Given the description of an element on the screen output the (x, y) to click on. 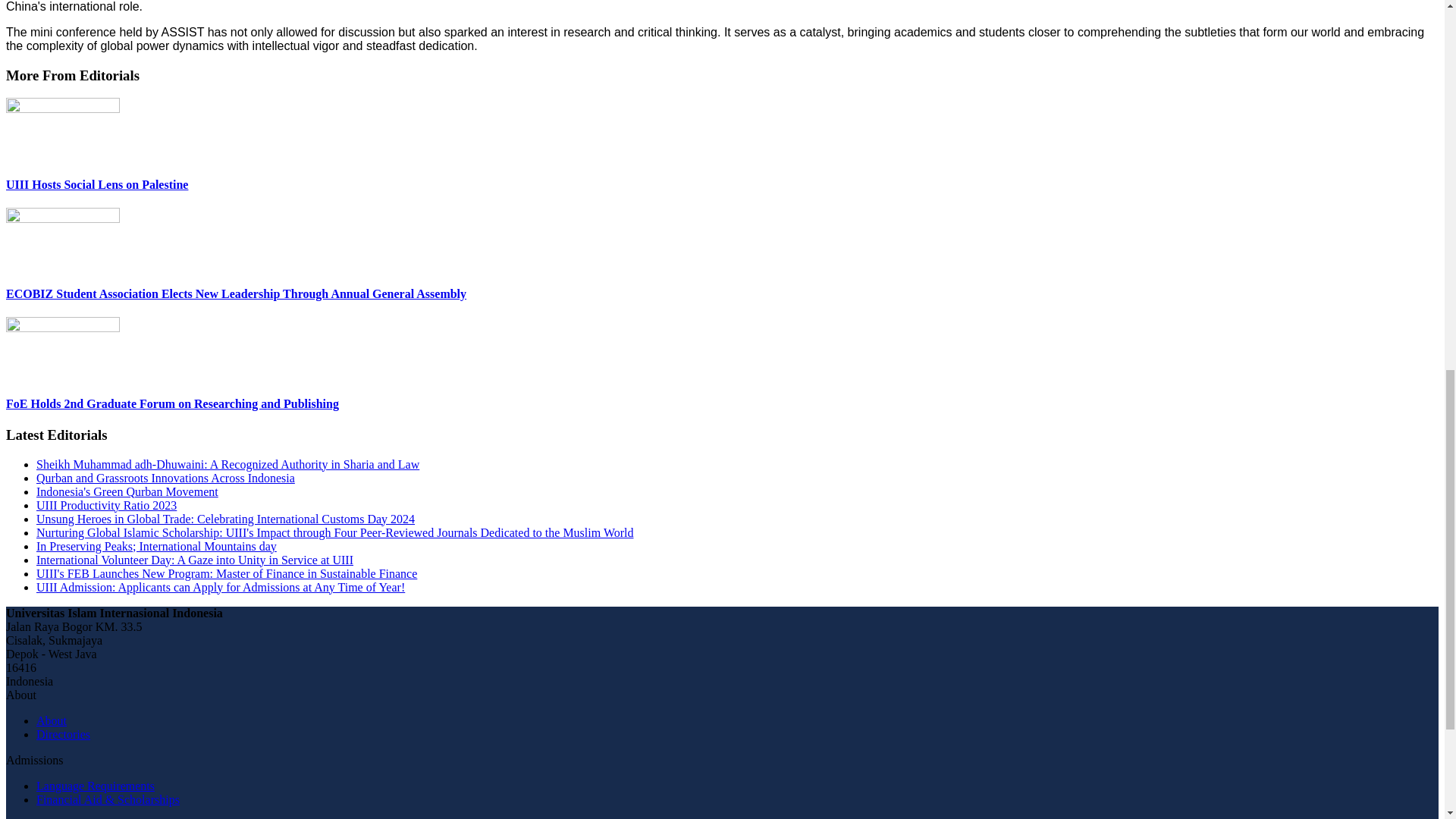
FoE Holds 2nd Graduate Forum on Researching and Publishing (172, 403)
UIII Productivity Ratio 2023 (106, 504)
Directories (63, 734)
UIII Hosts Social Lens on Palestine (96, 184)
In Preserving Peaks; International Mountains day (156, 545)
Qurban and Grassroots Innovations Across Indonesia (165, 477)
About (51, 720)
Language Requirements (95, 785)
